Given the description of an element on the screen output the (x, y) to click on. 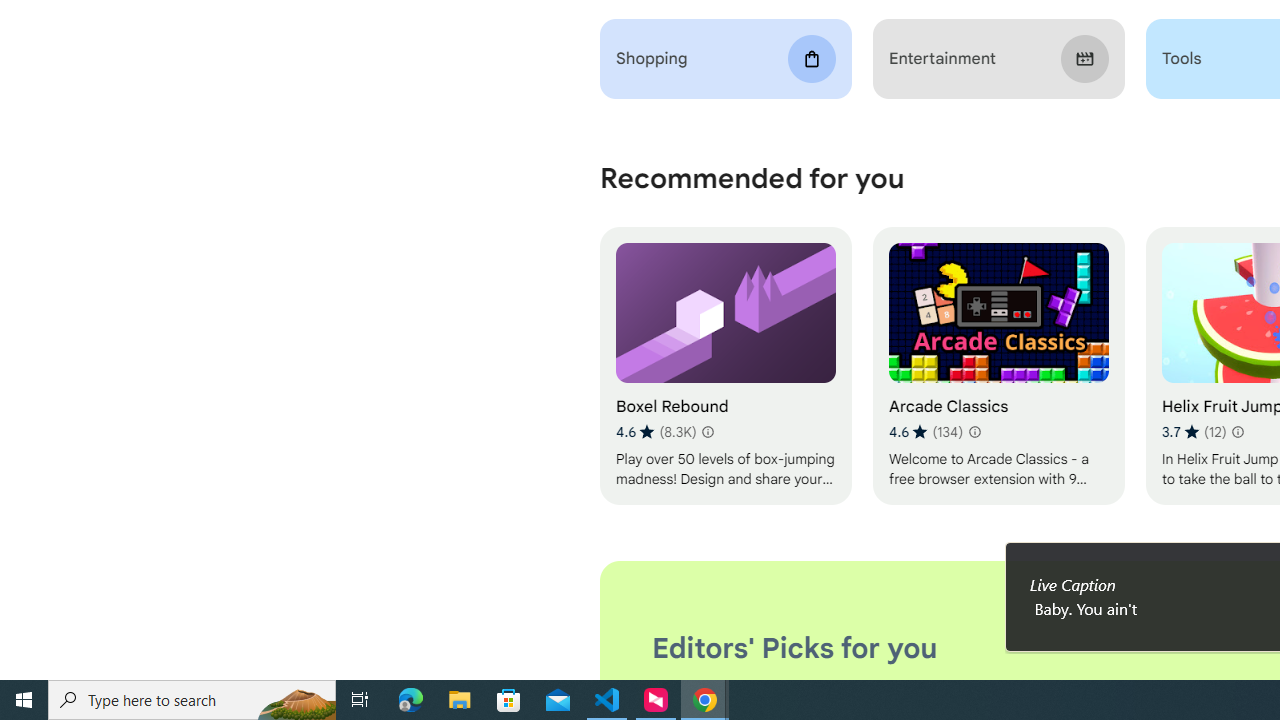
Average rating 4.6 out of 5 stars. 8.3K ratings. (655, 431)
Learn more about results and reviews "Arcade Classics" (973, 431)
Learn more about results and reviews "Boxel Rebound" (707, 431)
Entertainment (998, 59)
Average rating 3.7 out of 5 stars. 12 ratings. (1193, 431)
Average rating 4.6 out of 5 stars. 134 ratings. (925, 431)
Boxel Rebound (725, 366)
Arcade Classics (998, 366)
Shopping (725, 59)
